Given the description of an element on the screen output the (x, y) to click on. 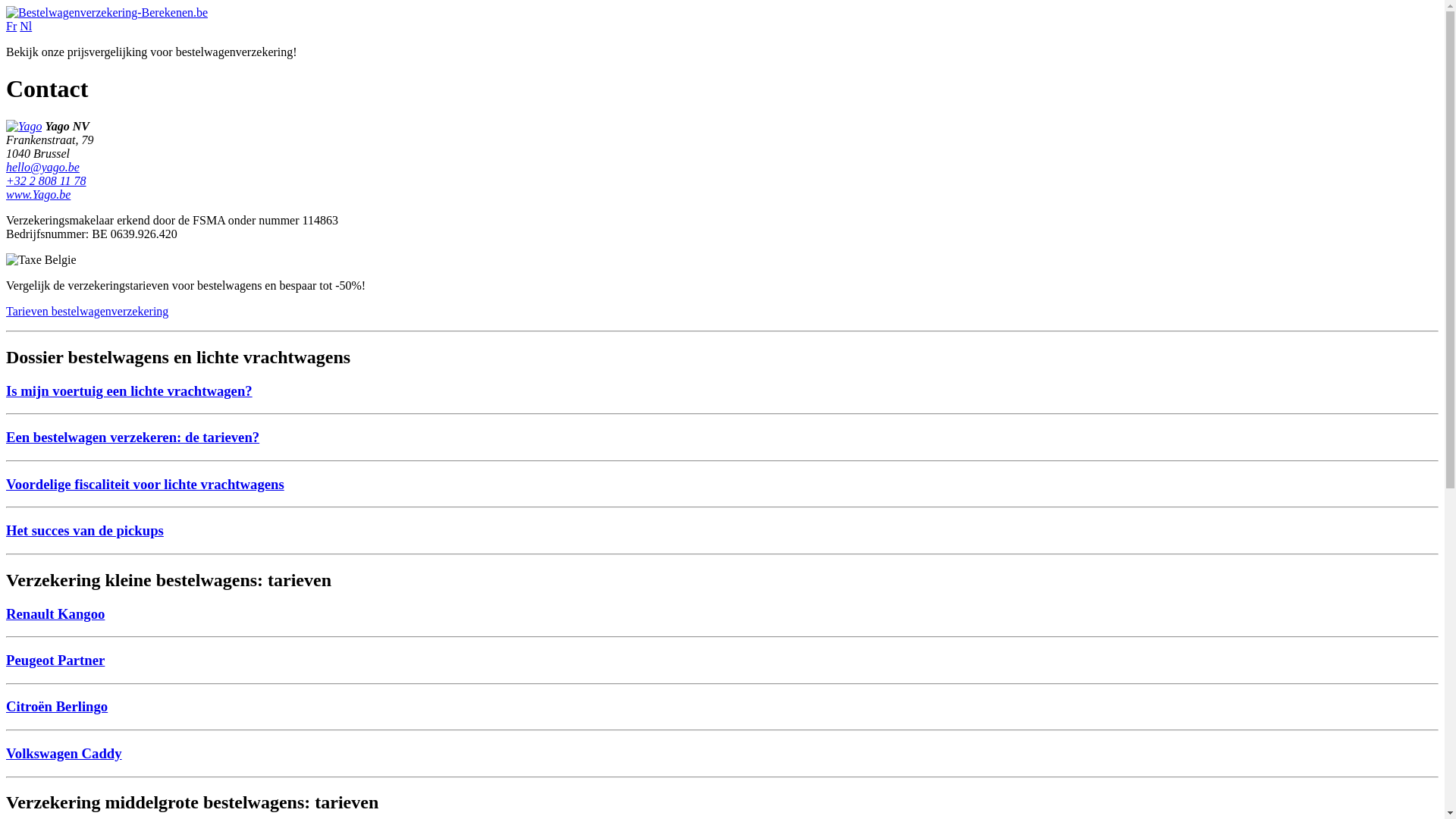
Renault Kangoo Element type: text (55, 613)
Tarieven bestelwagenverzekering Element type: text (87, 310)
Nl Element type: text (25, 25)
Een bestelwagen verzekeren: de tarieven? Element type: text (132, 437)
Fr Element type: text (11, 25)
hello@yago.be Element type: text (42, 166)
Is mijn voertuig een lichte vrachtwagen? Element type: text (129, 390)
+32 2 808 11 78 Element type: text (46, 180)
Voordelige fiscaliteit voor lichte vrachtwagens Element type: text (145, 484)
www.Yago.be Element type: text (38, 194)
Het succes van de pickups Element type: text (84, 530)
Volkswagen Caddy Element type: text (64, 753)
Peugeot Partner Element type: text (55, 660)
Terug naar homepage Element type: hover (106, 12)
